Given the description of an element on the screen output the (x, y) to click on. 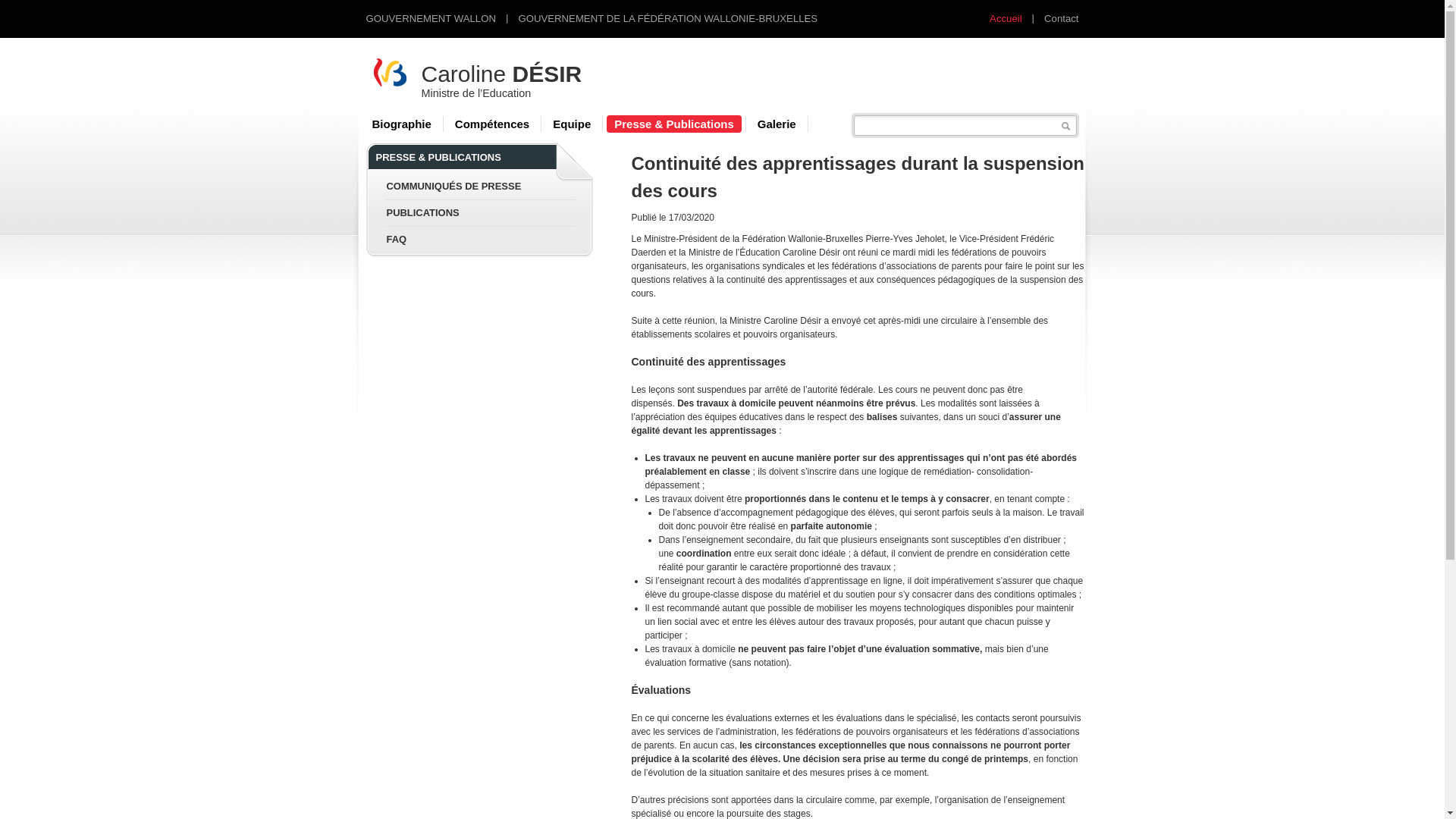
Presse & Publications Element type: text (673, 123)
PUBLICATIONS Element type: text (422, 211)
FAQ Element type: text (396, 238)
GOUVERNEMENT WALLON Element type: text (430, 18)
Equipe Element type: text (571, 123)
Contact Element type: text (1061, 18)
Galerie Element type: text (776, 123)
Accueil Element type: text (1005, 18)
Biographie Element type: text (401, 123)
